Given the description of an element on the screen output the (x, y) to click on. 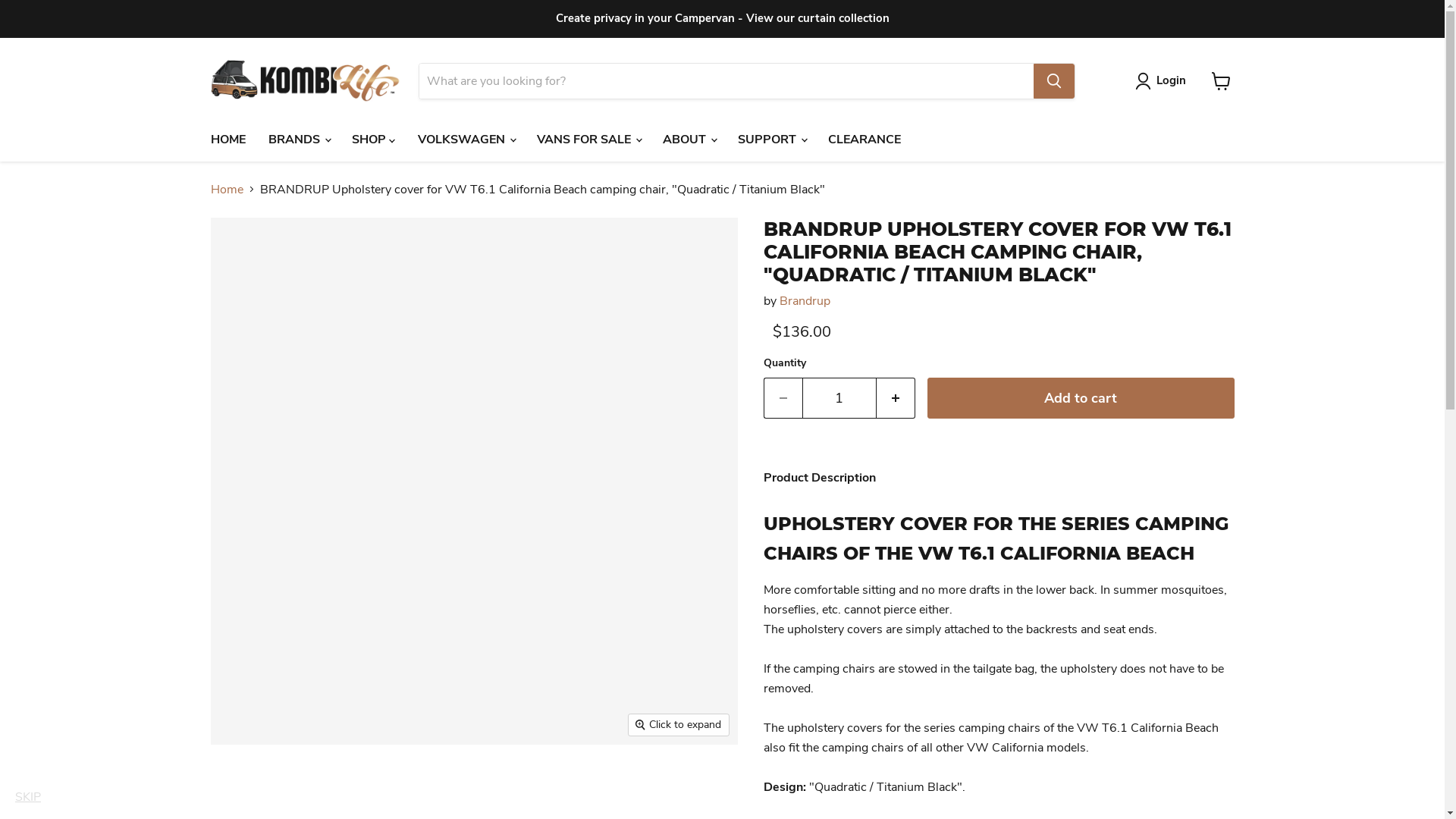
View cart Element type: text (1221, 80)
Click to expand Element type: text (678, 724)
Login Element type: text (1163, 81)
Brandrup Element type: text (804, 300)
CLEARANCE Element type: text (863, 138)
SKIP Element type: text (27, 796)
HOME Element type: text (227, 138)
Add to cart Element type: text (1079, 398)
Home Element type: text (226, 188)
